Given the description of an element on the screen output the (x, y) to click on. 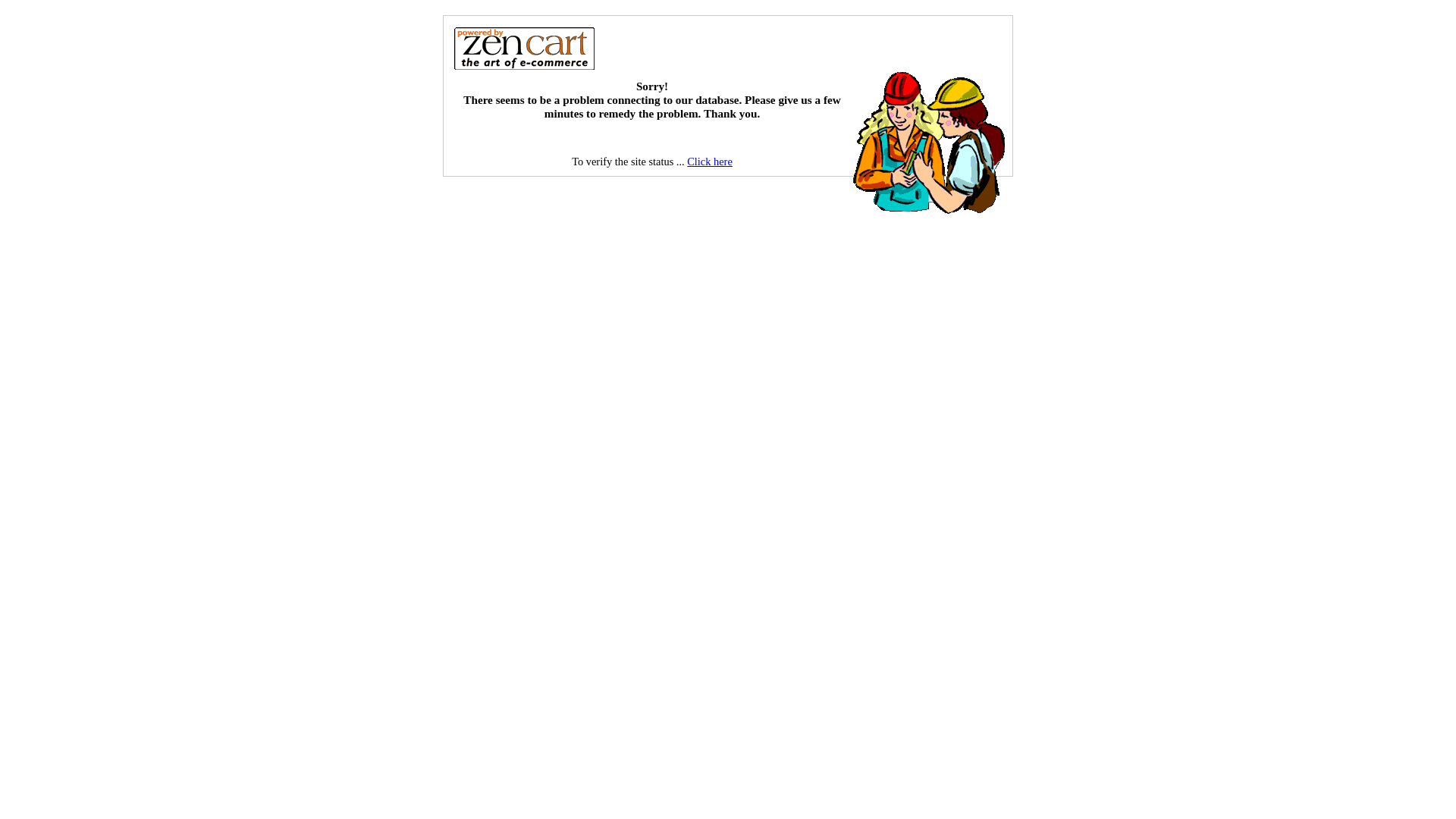
This Is my store logo. [home link] Element type: hover (523, 47)
Click here Element type: text (709, 161)
